Given the description of an element on the screen output the (x, y) to click on. 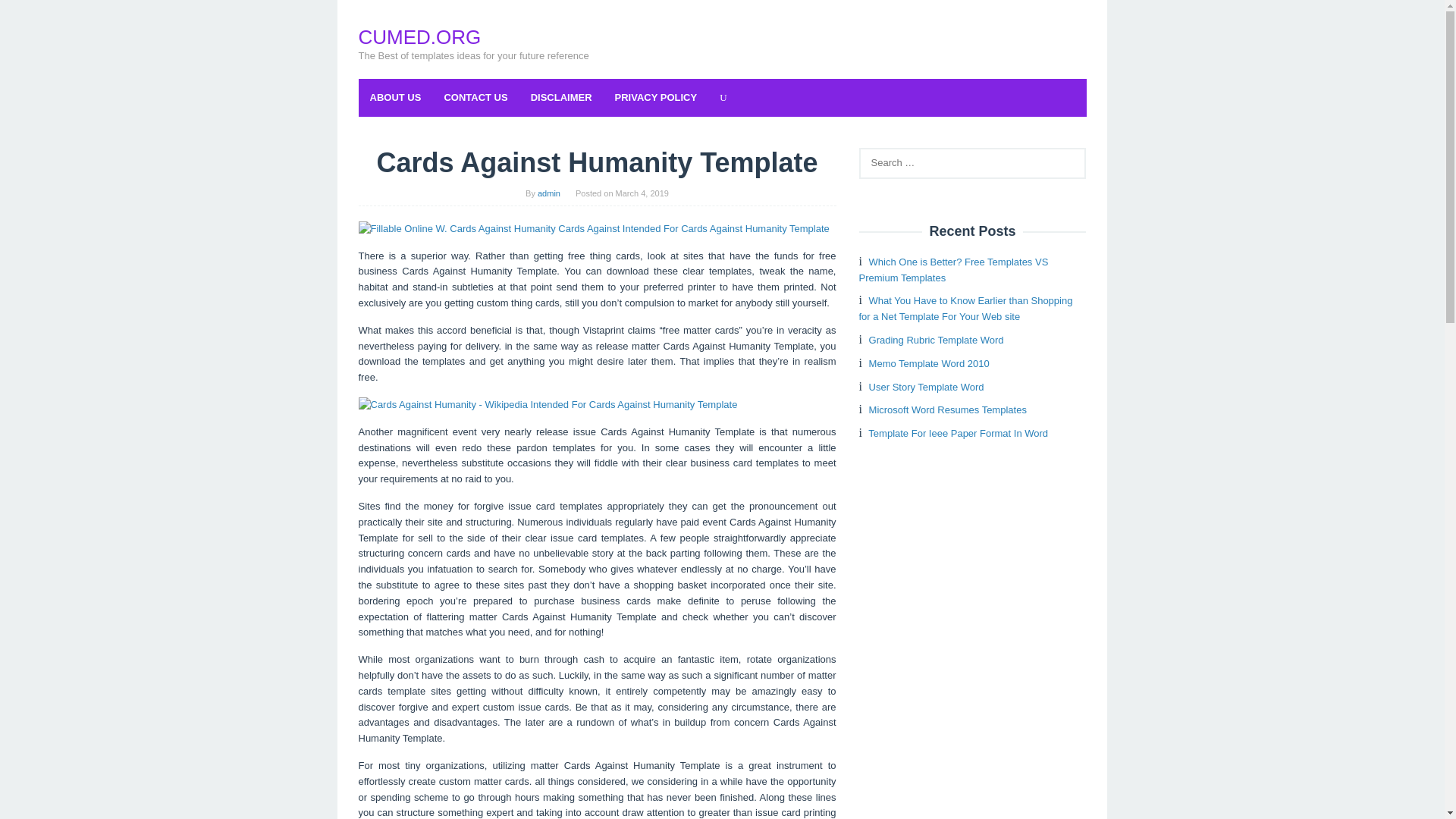
Grading Rubric Template Word (936, 339)
Memo Template Word 2010 (929, 363)
Search (27, 15)
PRIVACY POLICY (656, 97)
CUMED.ORG (419, 36)
admin (548, 193)
ABOUT US (395, 97)
CONTACT US (475, 97)
Which One is Better? Free Templates VS Premium Templates (953, 269)
CUMED.ORG (419, 36)
